Given the description of an element on the screen output the (x, y) to click on. 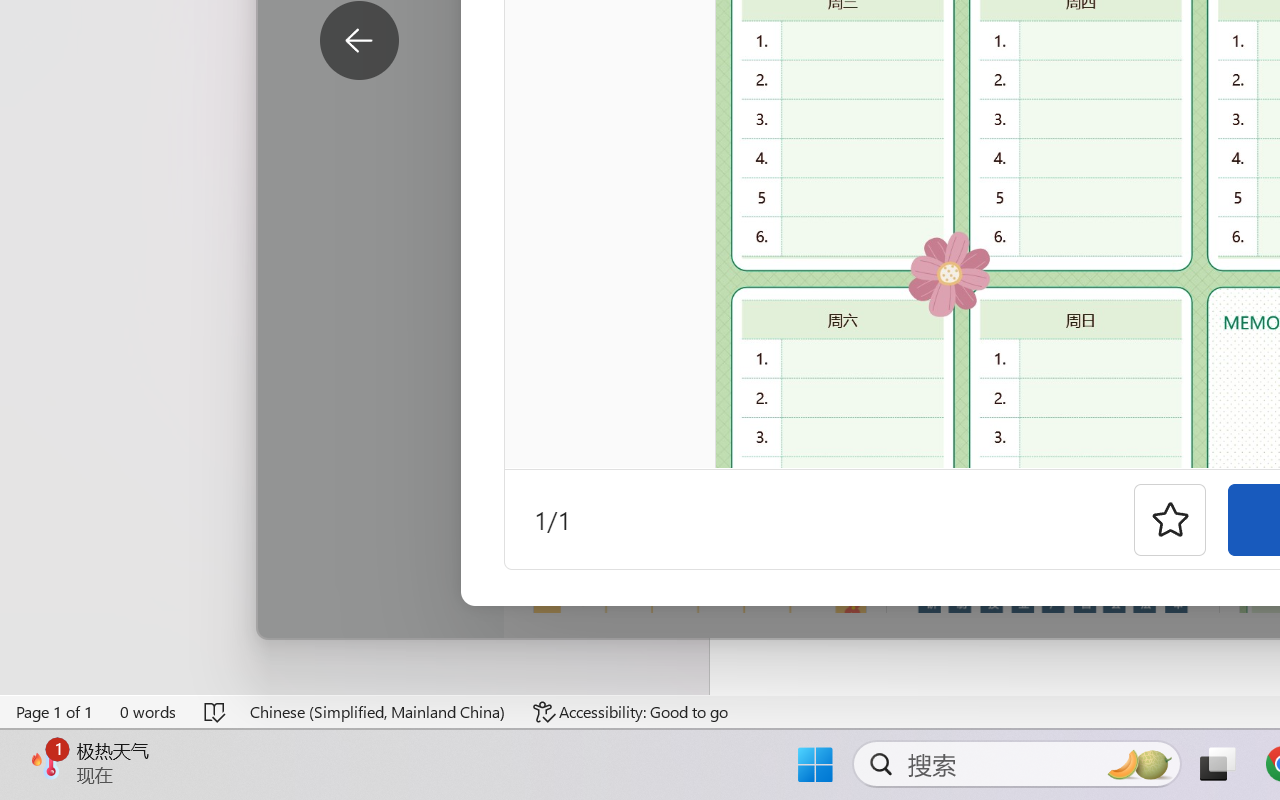
Language Chinese (Simplified, Mainland China) (378, 712)
